Given the description of an element on the screen output the (x, y) to click on. 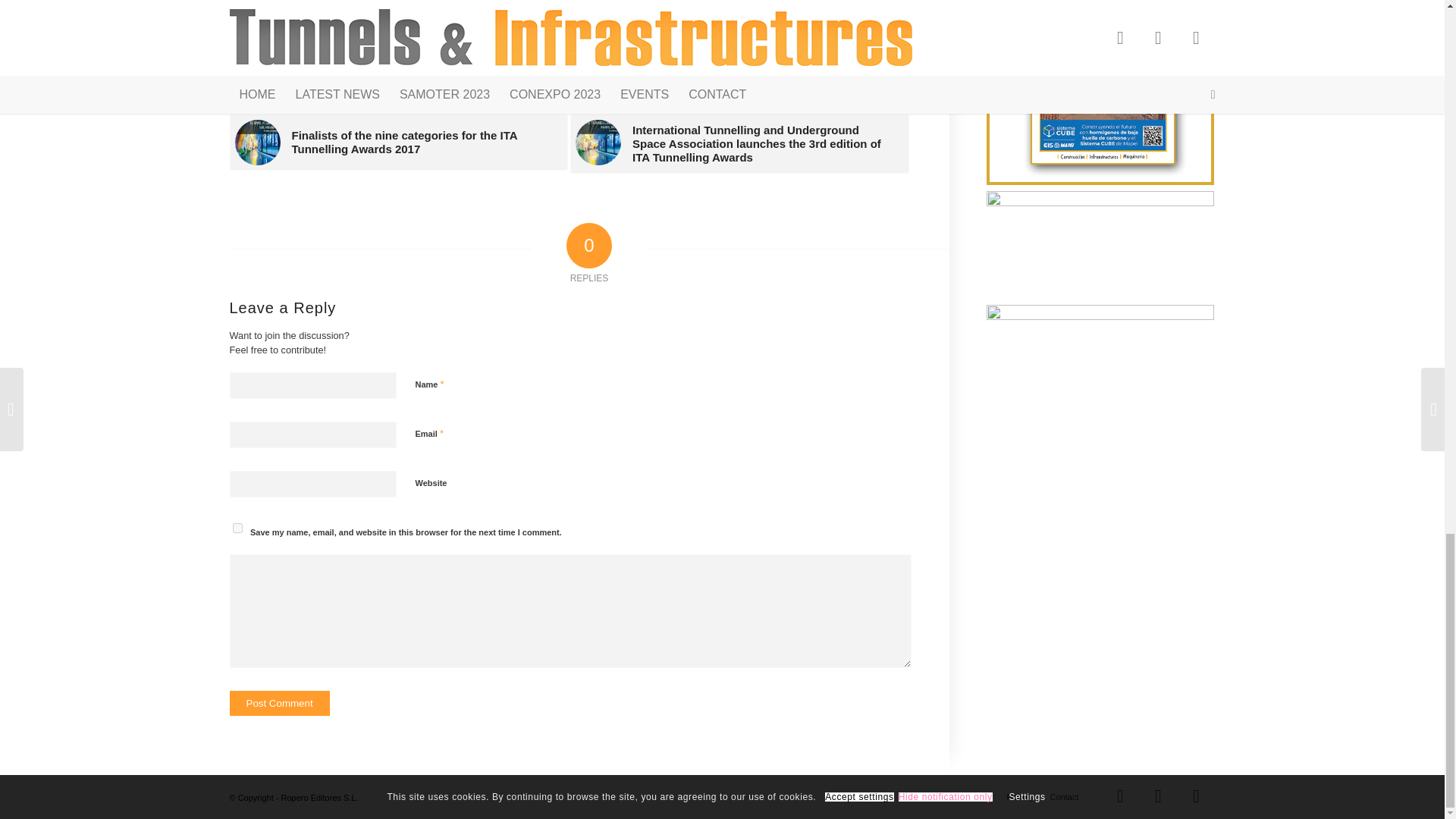
Post Comment (278, 703)
1 (423, 560)
yes (236, 528)
